Given the description of an element on the screen output the (x, y) to click on. 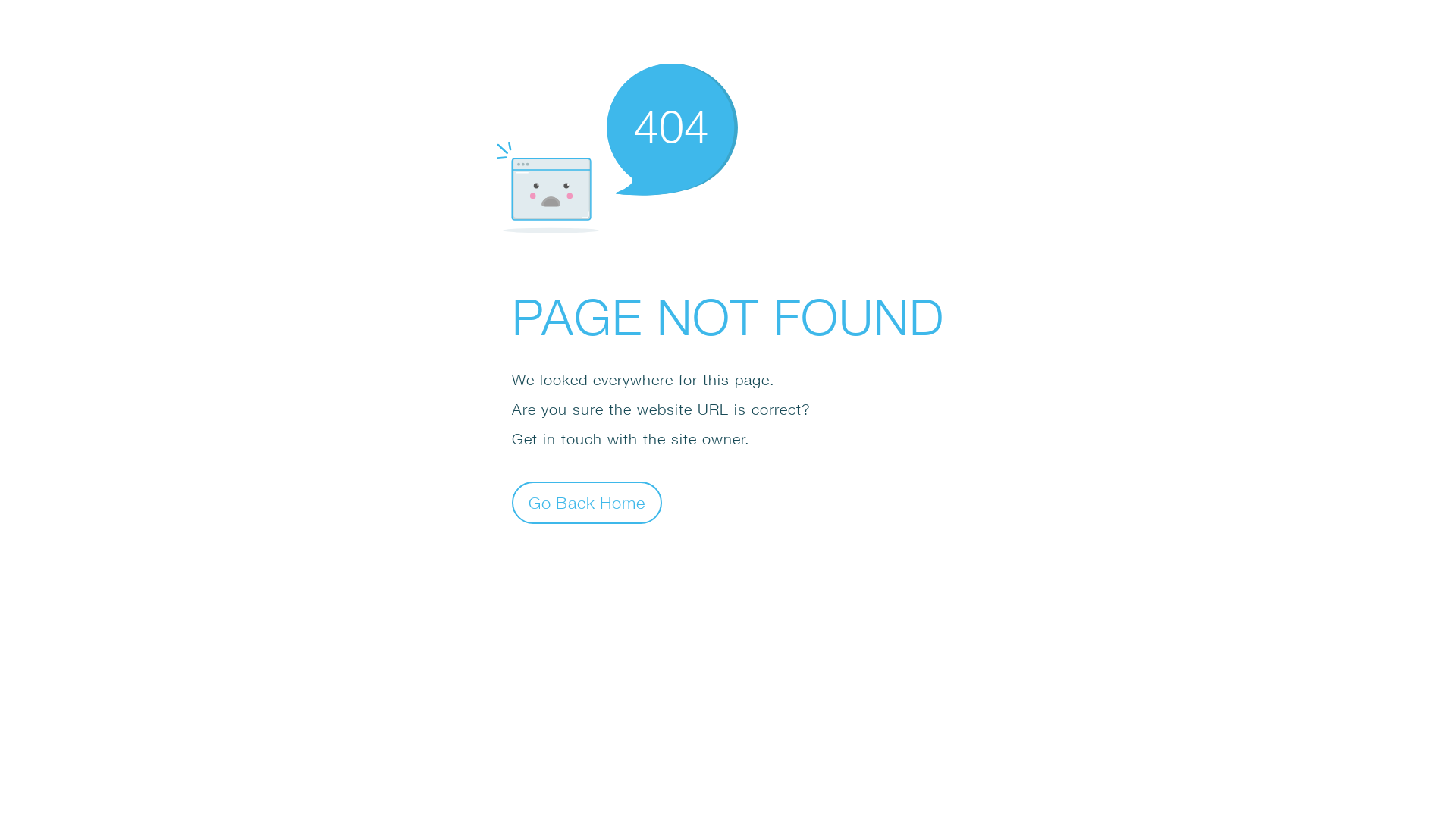
Go Back Home Element type: text (586, 502)
